Given the description of an element on the screen output the (x, y) to click on. 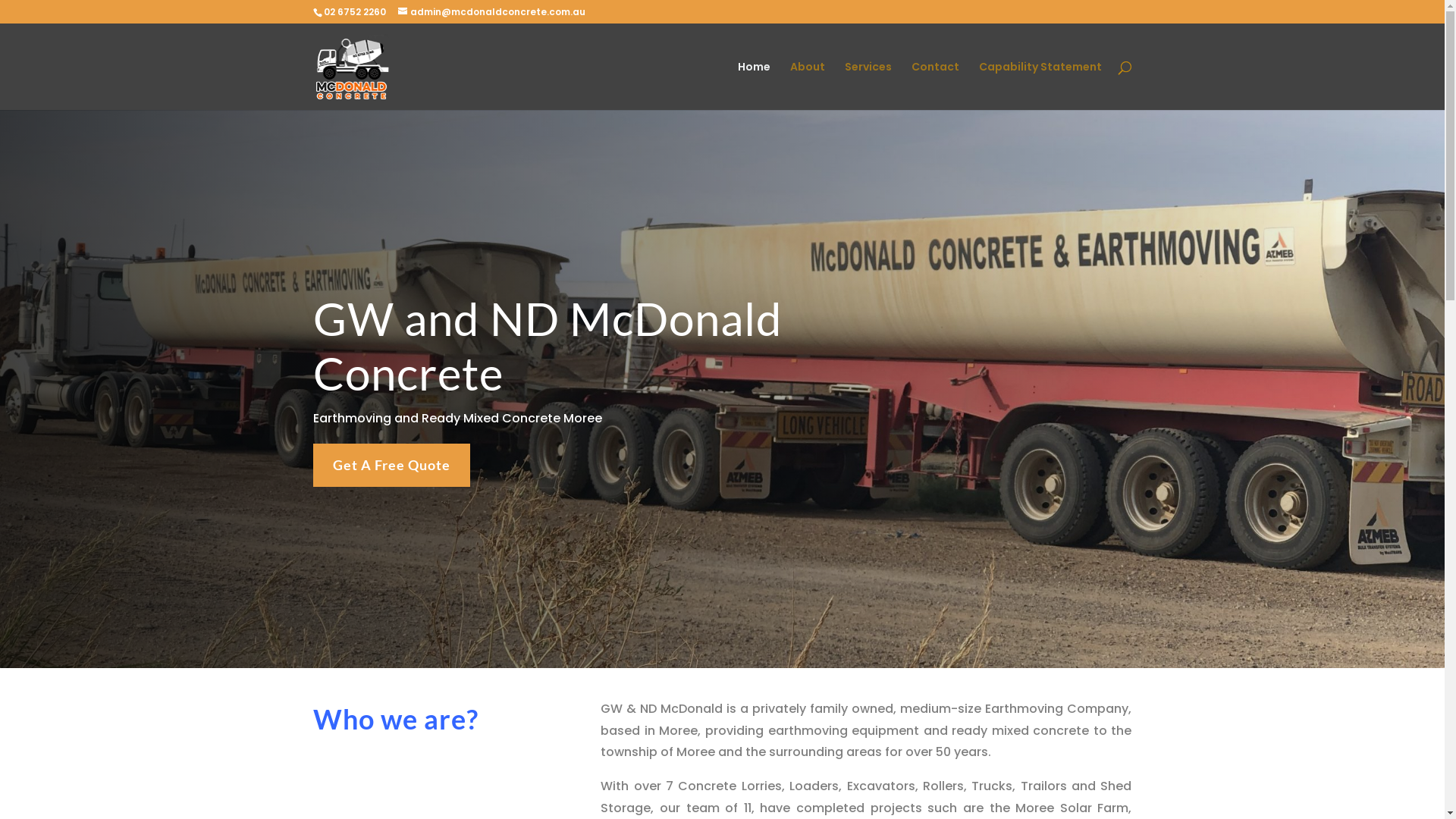
Contact Element type: text (935, 85)
Services Element type: text (867, 85)
admin@mcdonaldconcrete.com.au Element type: text (490, 11)
Capability Statement Element type: text (1039, 85)
Home Element type: text (753, 85)
Get A Free Quote Element type: text (390, 464)
About Element type: text (807, 85)
